Given the description of an element on the screen output the (x, y) to click on. 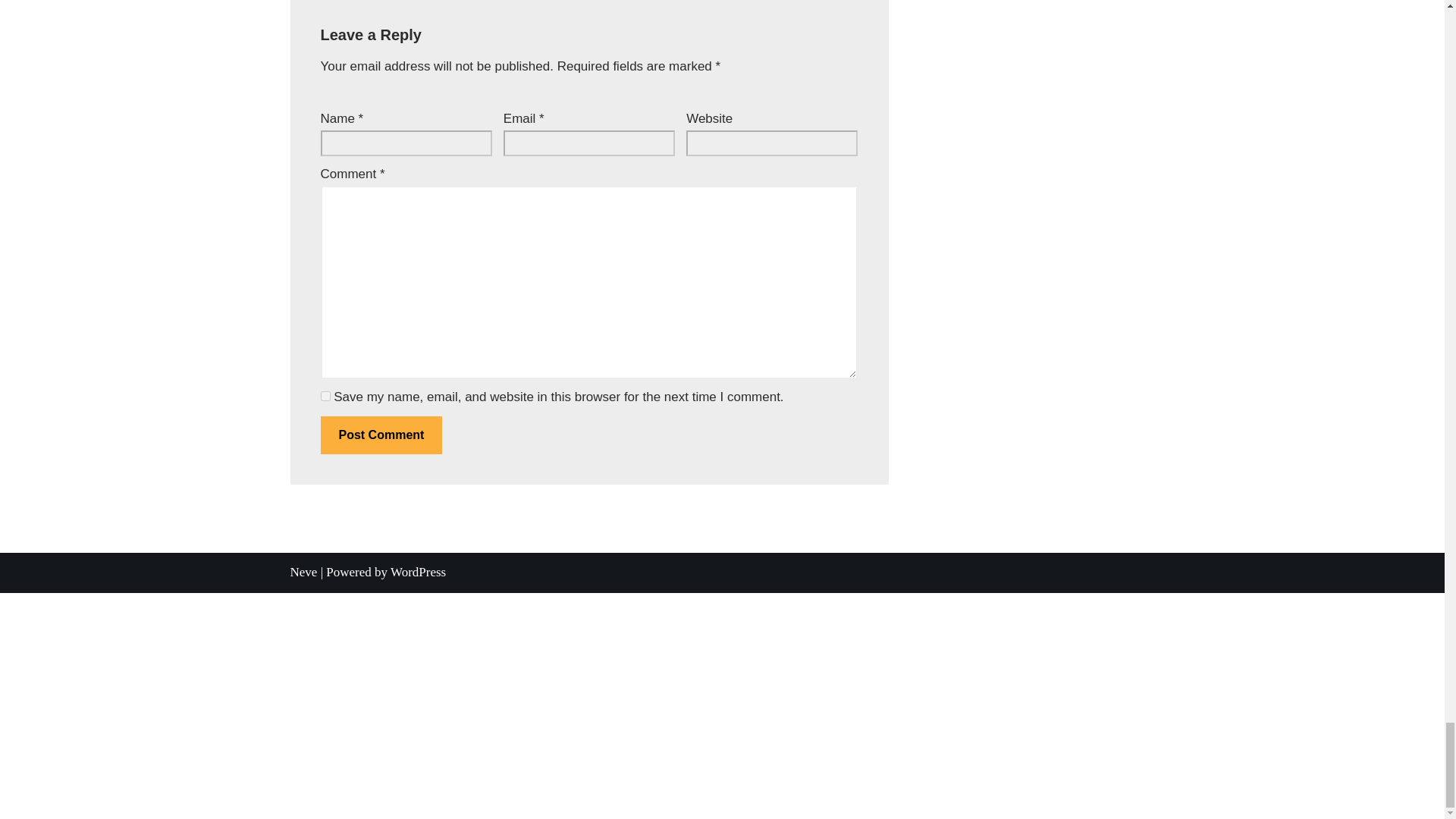
Neve (303, 572)
yes (325, 396)
Post Comment (381, 435)
Post Comment (381, 435)
WordPress (417, 572)
